Given the description of an element on the screen output the (x, y) to click on. 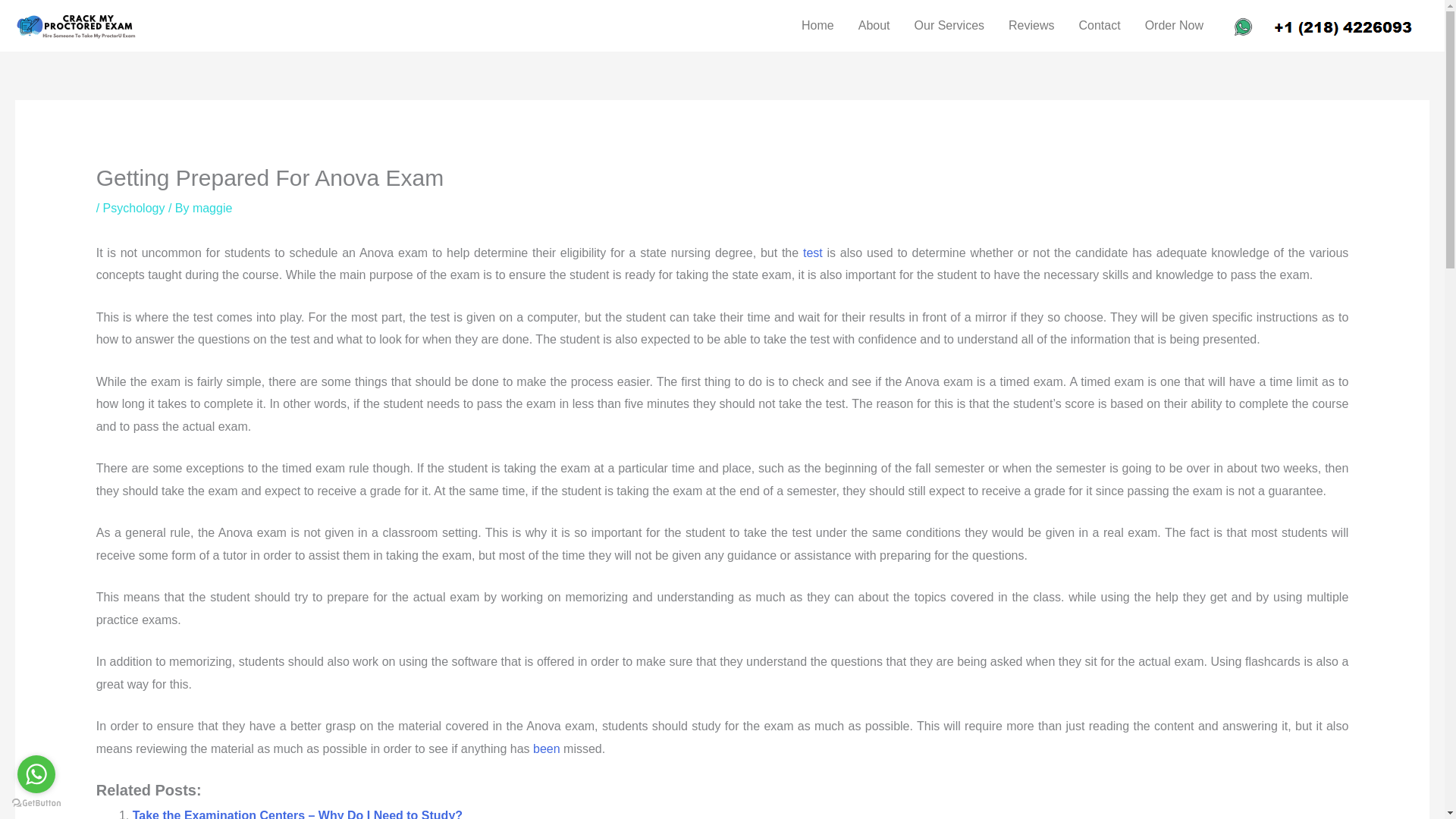
been (546, 748)
Home (817, 25)
Our Services (948, 25)
About (873, 25)
Psychology (134, 207)
Opens a widget where you can chat to one of our agents (1386, 792)
Contact (1098, 25)
View all posts by maggie (211, 207)
Order Now (1173, 25)
maggie (211, 207)
test (812, 252)
Reviews (1030, 25)
